Given the description of an element on the screen output the (x, y) to click on. 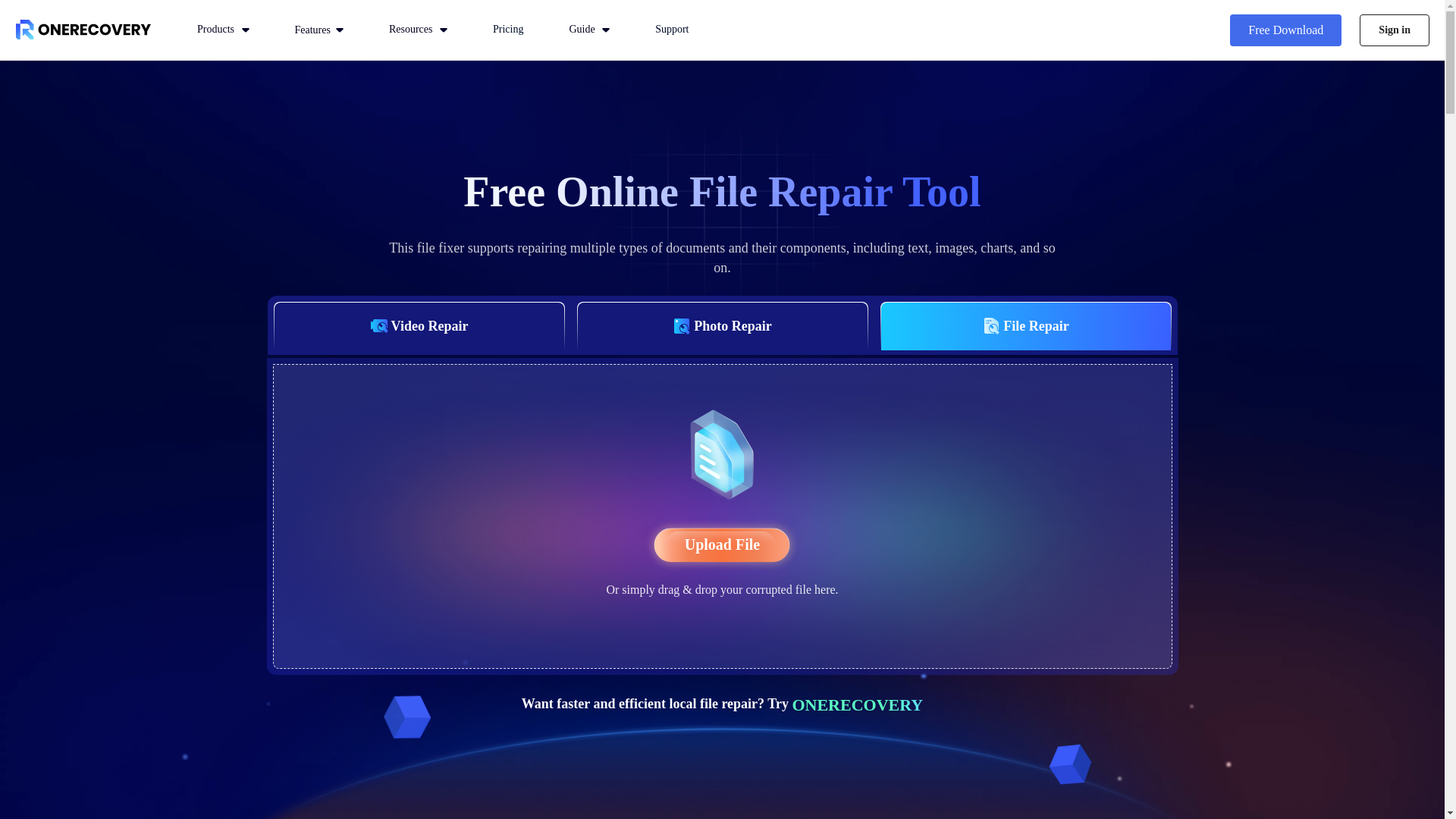
ONERECOVERY (857, 703)
Support (671, 35)
Photo Repair (722, 325)
File Repair (1025, 325)
Pricing (507, 35)
Video Repair (419, 325)
Sign in (1394, 29)
